Given the description of an element on the screen output the (x, y) to click on. 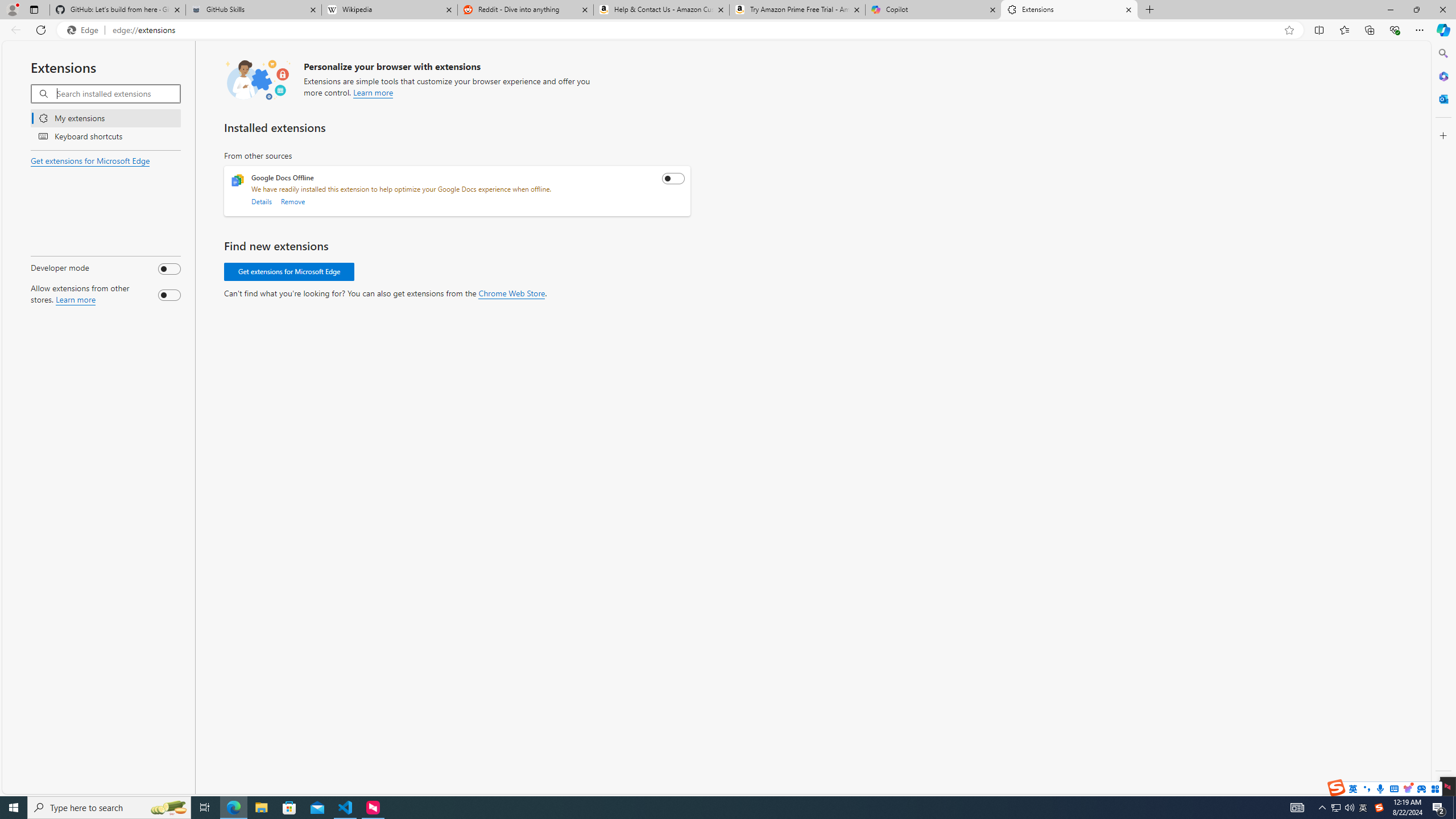
Learn more about extensions (372, 91)
